Given the description of an element on the screen output the (x, y) to click on. 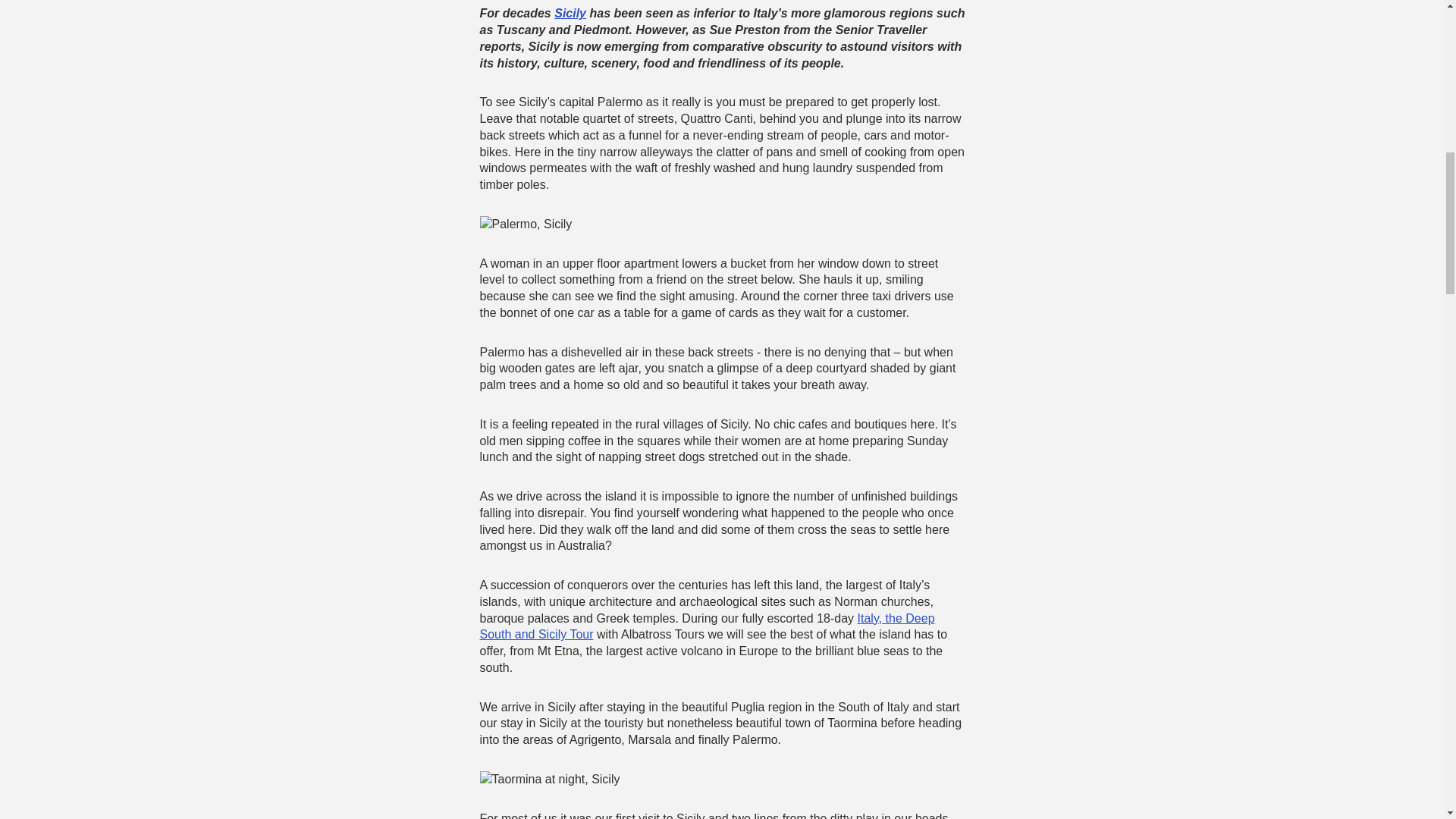
Taormina at night, Sicily (549, 779)
Sicily (570, 12)
Taormina at night, Sicily (549, 779)
Palermo, Sicily (525, 223)
Italy, the Deep South and Sicily Tour (706, 626)
Palermo, Sicily (525, 224)
